Given the description of an element on the screen output the (x, y) to click on. 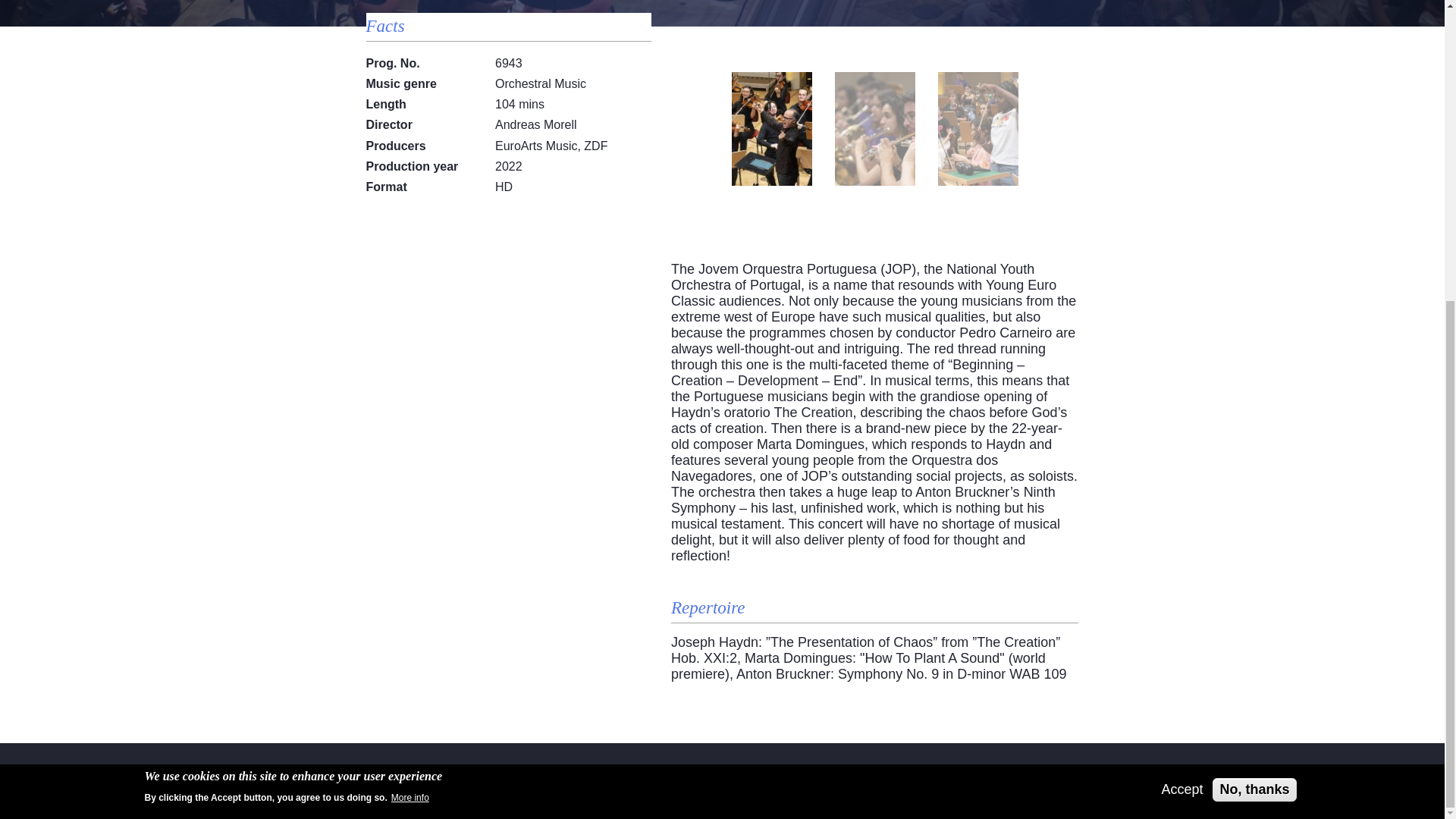
Sweepstakes - Disclaimer (996, 787)
